Given the description of an element on the screen output the (x, y) to click on. 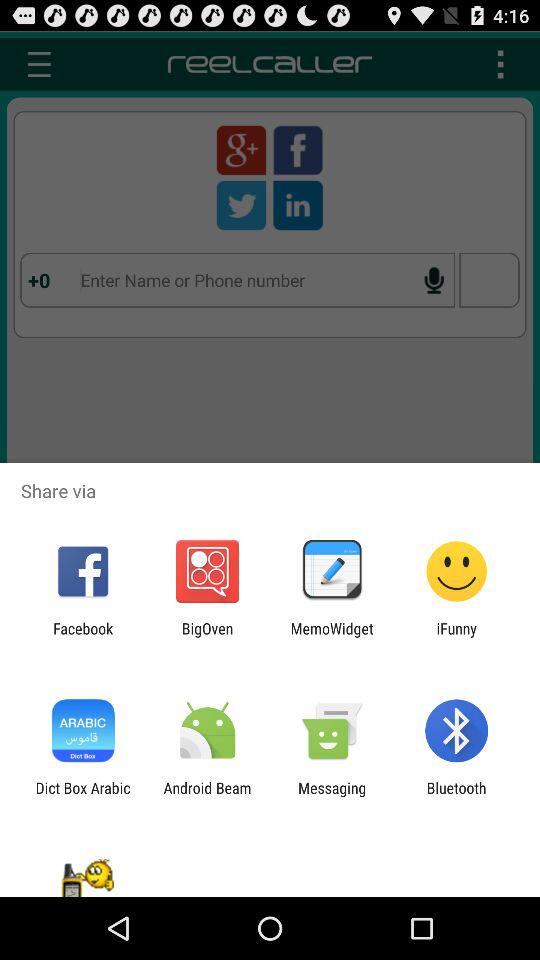
select the icon next to the memowidget (456, 637)
